Given the description of an element on the screen output the (x, y) to click on. 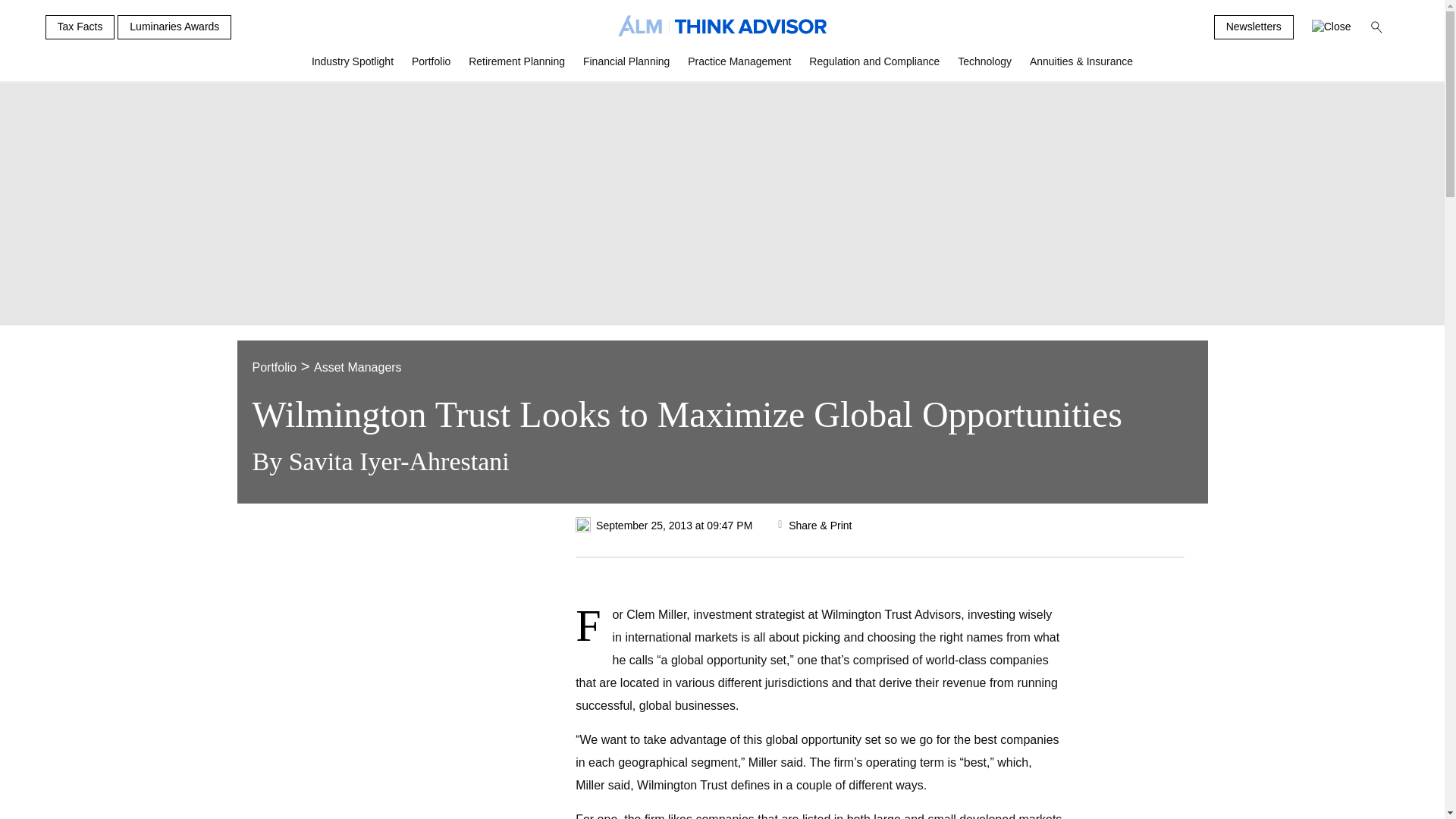
Newsletters (1254, 27)
Luminaries Awards (174, 27)
Tax Facts (80, 27)
Industry Spotlight (352, 67)
